Given the description of an element on the screen output the (x, y) to click on. 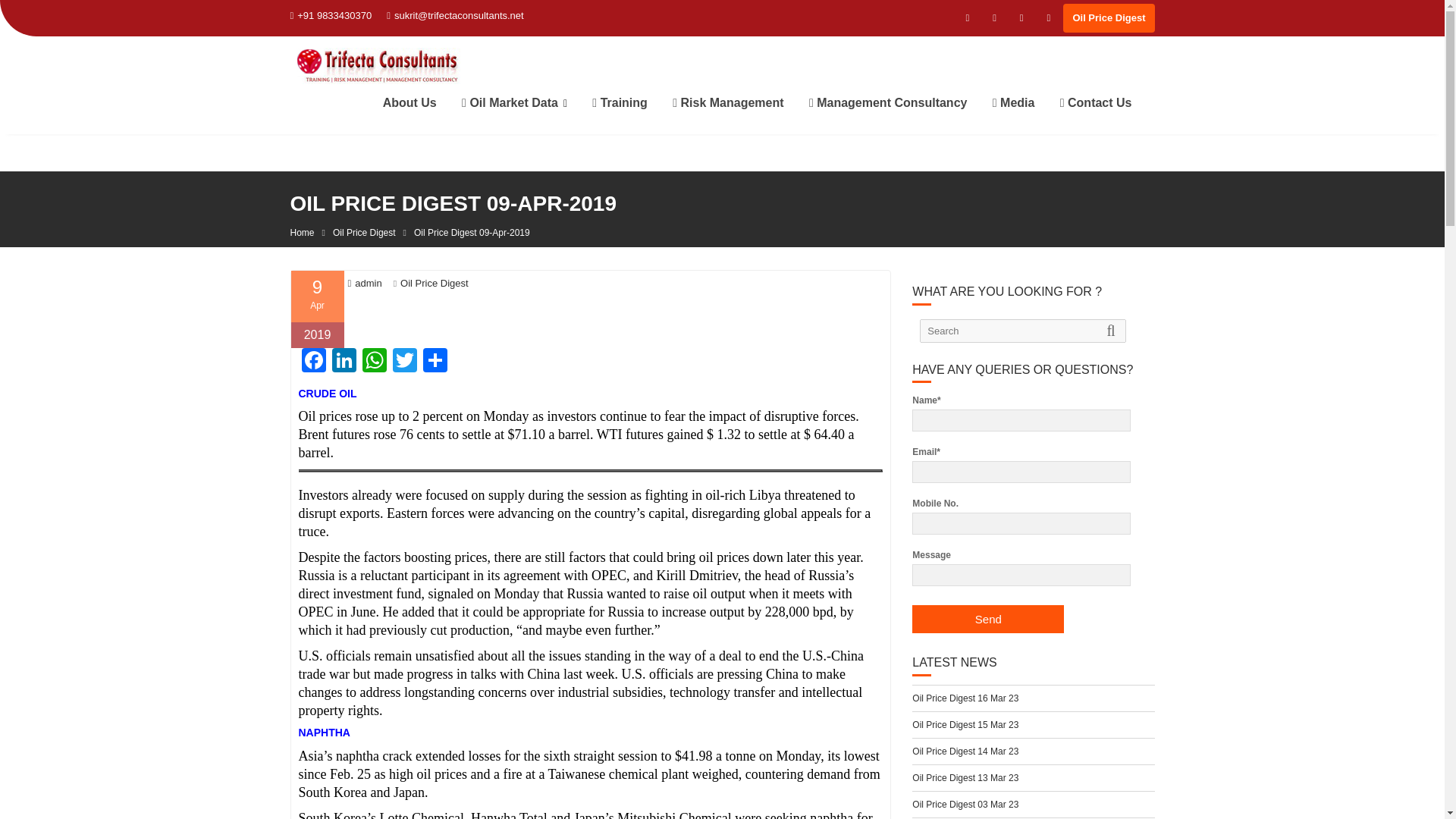
Risk Management (727, 103)
Facebook (313, 361)
Contact Us (1095, 103)
Oil Price Digest (434, 283)
WhatsApp (374, 361)
Oil Market Data (513, 103)
About Us (409, 103)
Twitter (405, 361)
Facebook (967, 17)
Facebook (313, 361)
LinkedIn (344, 361)
Twitter (405, 361)
WhatsApp (374, 361)
LinkedIn (344, 361)
Training (619, 103)
